Given the description of an element on the screen output the (x, y) to click on. 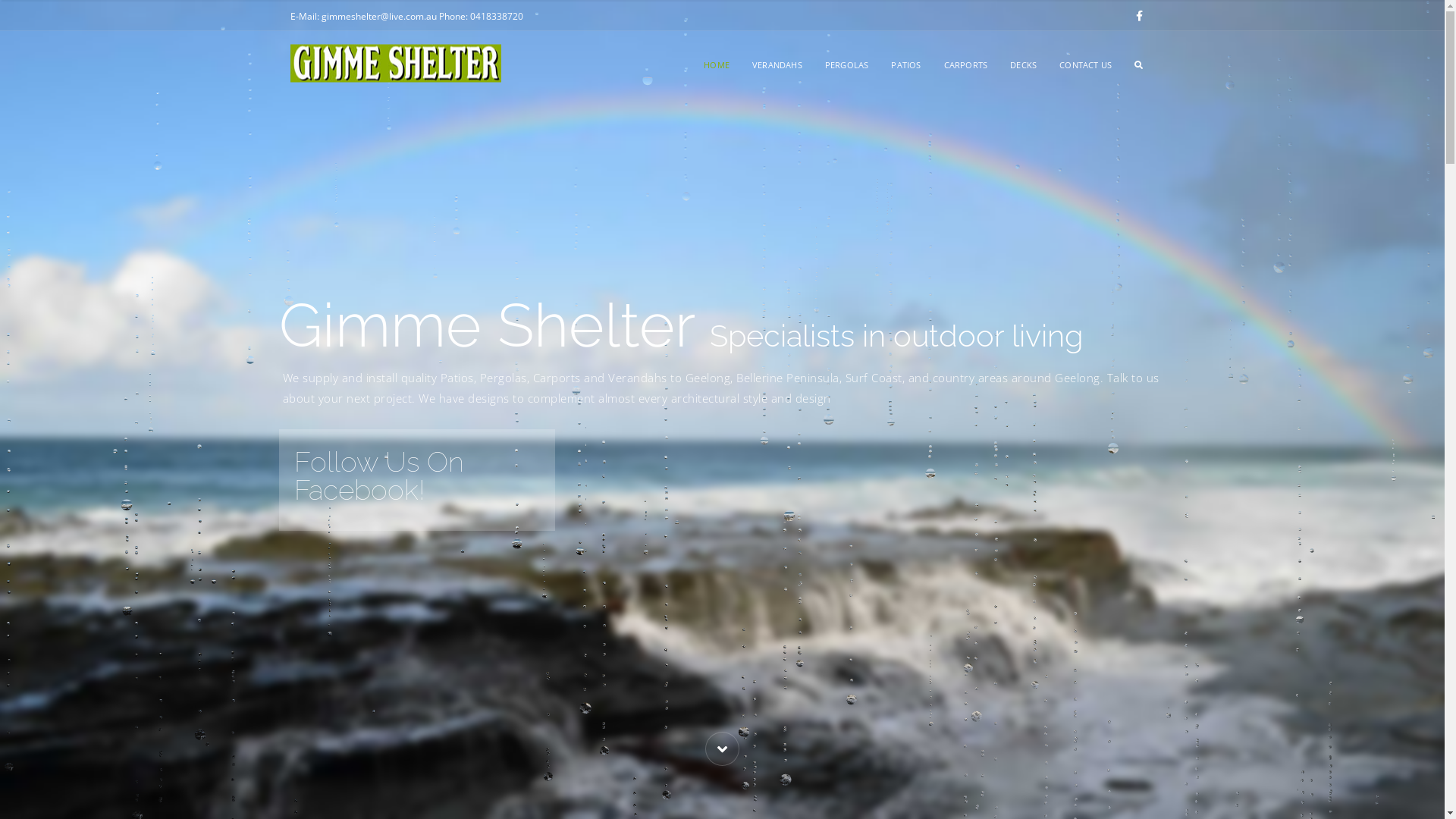
VERANDAHS Element type: text (776, 65)
PERGOLAS Element type: text (846, 65)
CARPORTS Element type: text (965, 65)
HOME Element type: text (716, 65)
PATIOS Element type: text (905, 65)
DECKS Element type: text (1023, 65)
CONTACT US Element type: text (1085, 65)
Follow Us On Facebook! Element type: text (417, 479)
